Given the description of an element on the screen output the (x, y) to click on. 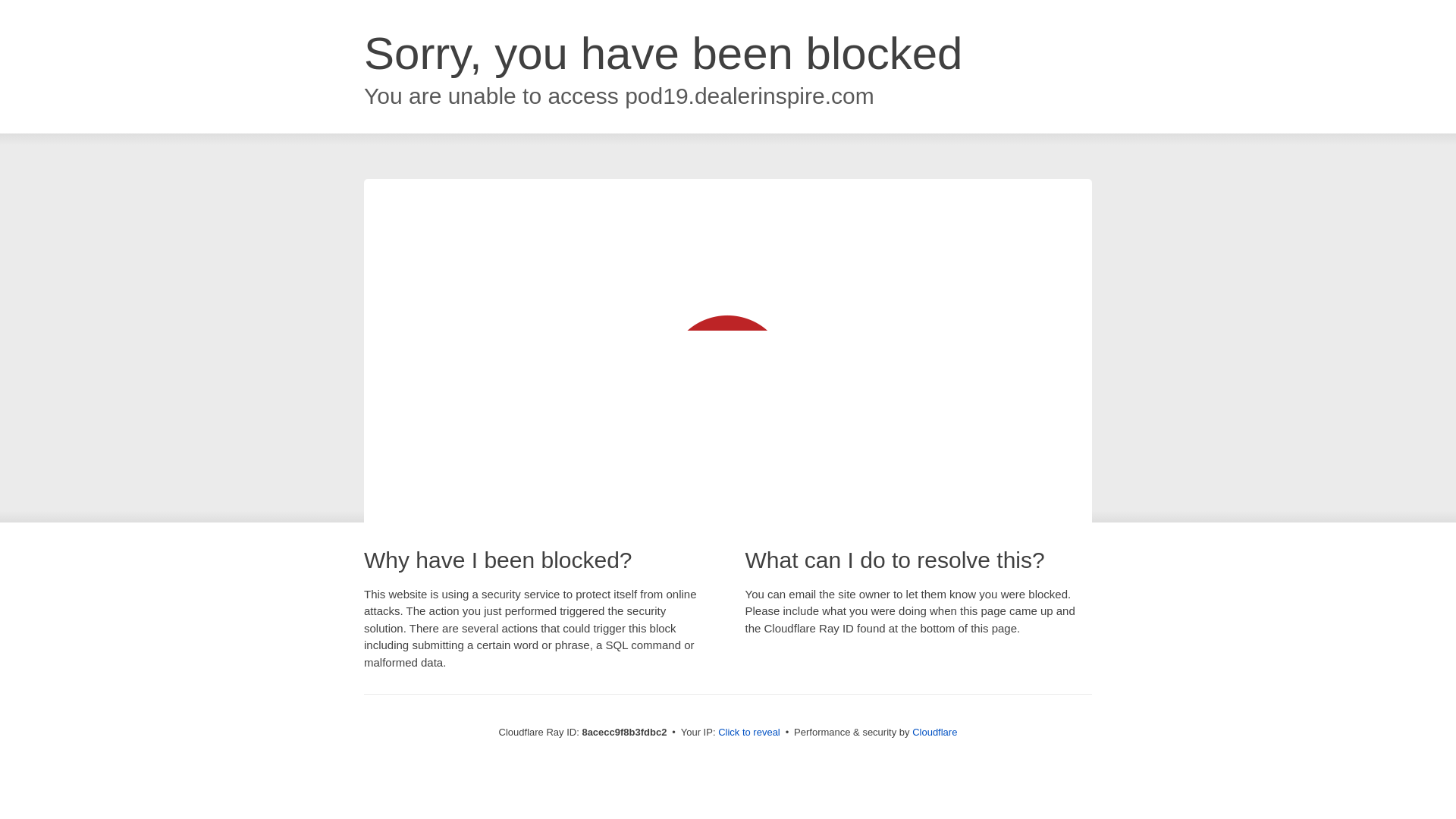
Cloudflare (934, 731)
Click to reveal (748, 732)
